Given the description of an element on the screen output the (x, y) to click on. 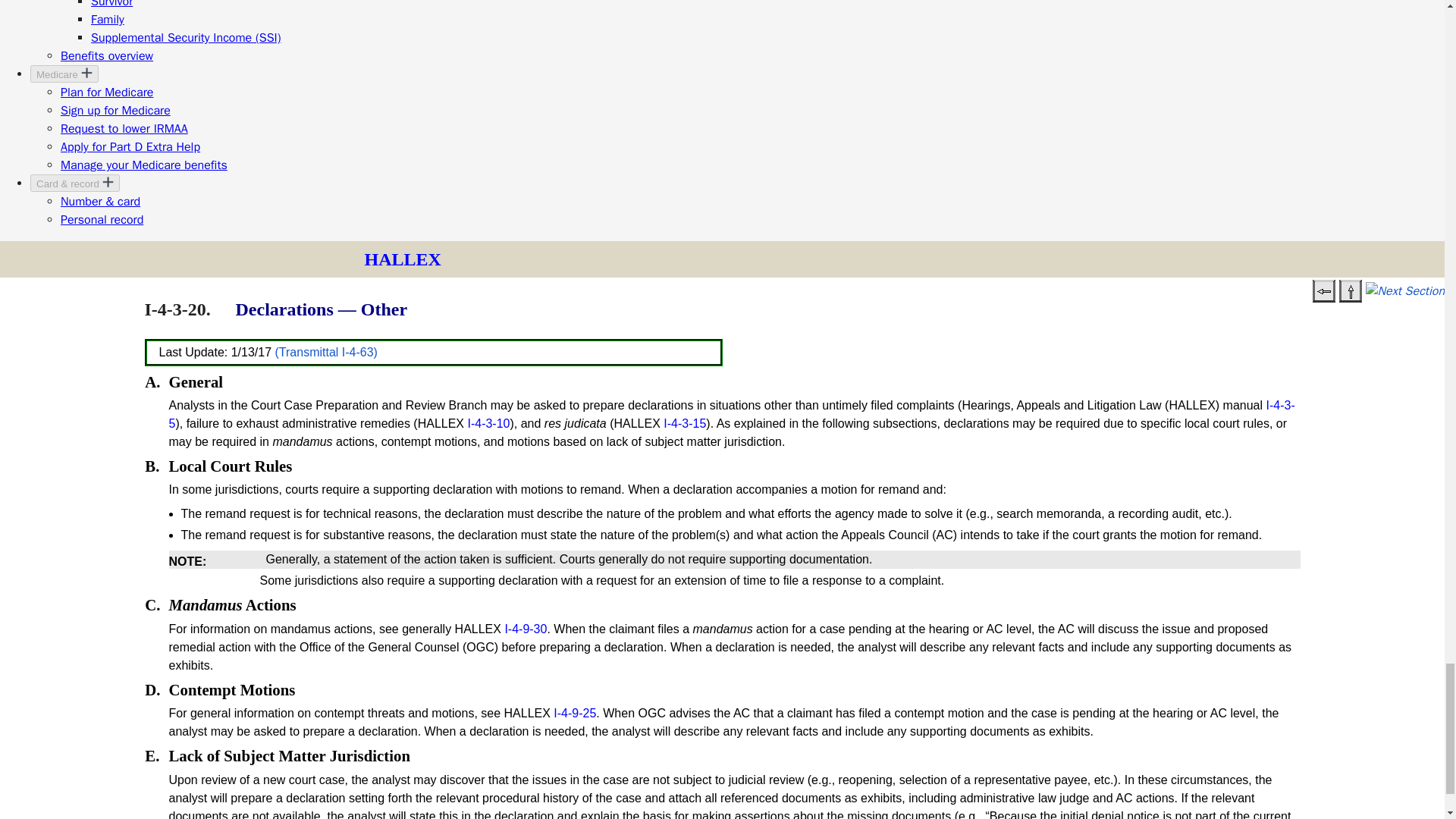
HALLEX (402, 259)
I-4-9-30 (525, 628)
I-4-3-5 (731, 413)
Table of Contents (1350, 291)
I-4-3-20. (176, 309)
Previous Section (1324, 291)
I-4-3-10 (488, 422)
I-4-3-15 (684, 422)
I-4-9-25 (574, 712)
